Given the description of an element on the screen output the (x, y) to click on. 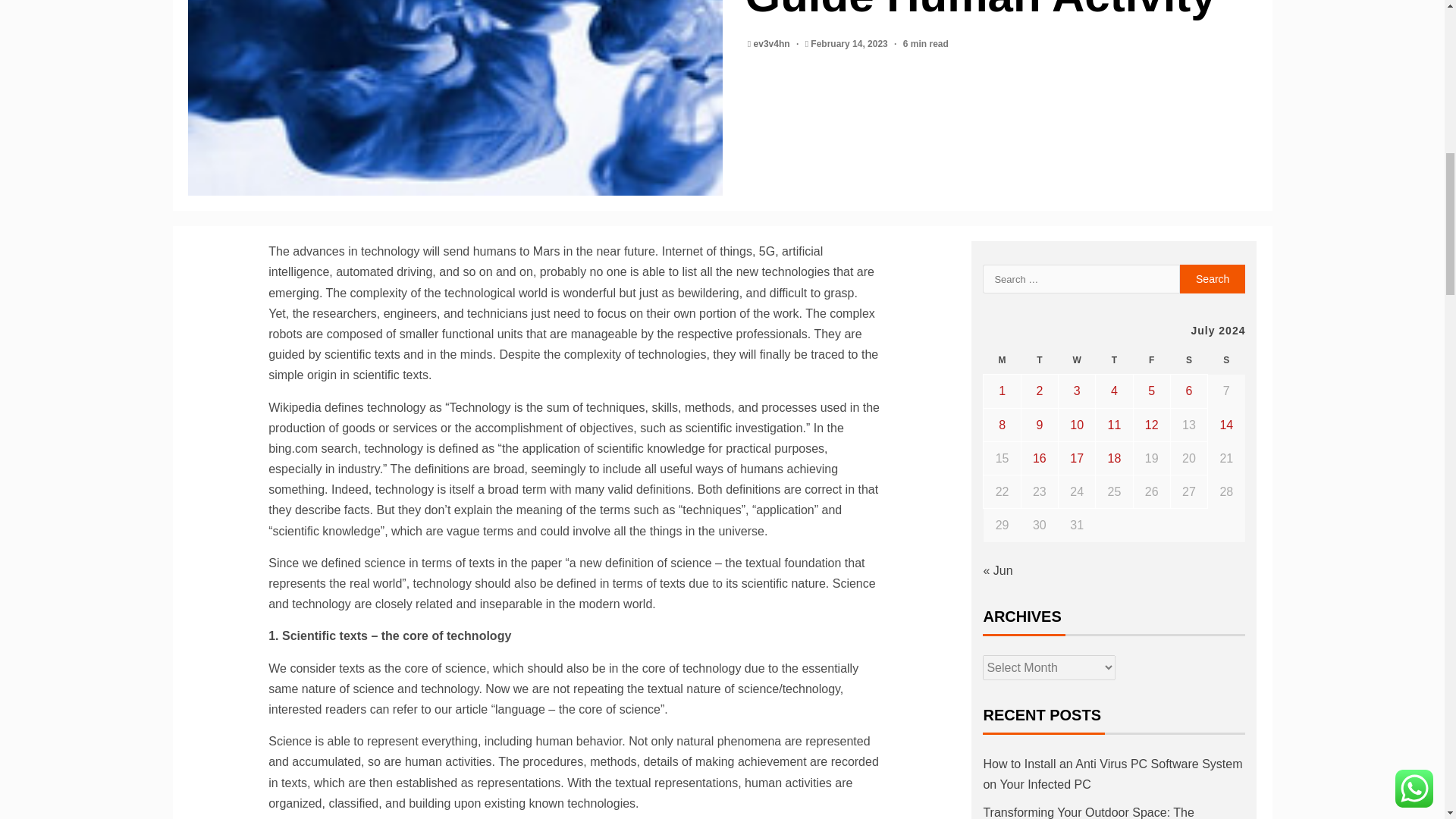
ev3v4hn (773, 43)
Search (1212, 278)
Search (1212, 278)
